Given the description of an element on the screen output the (x, y) to click on. 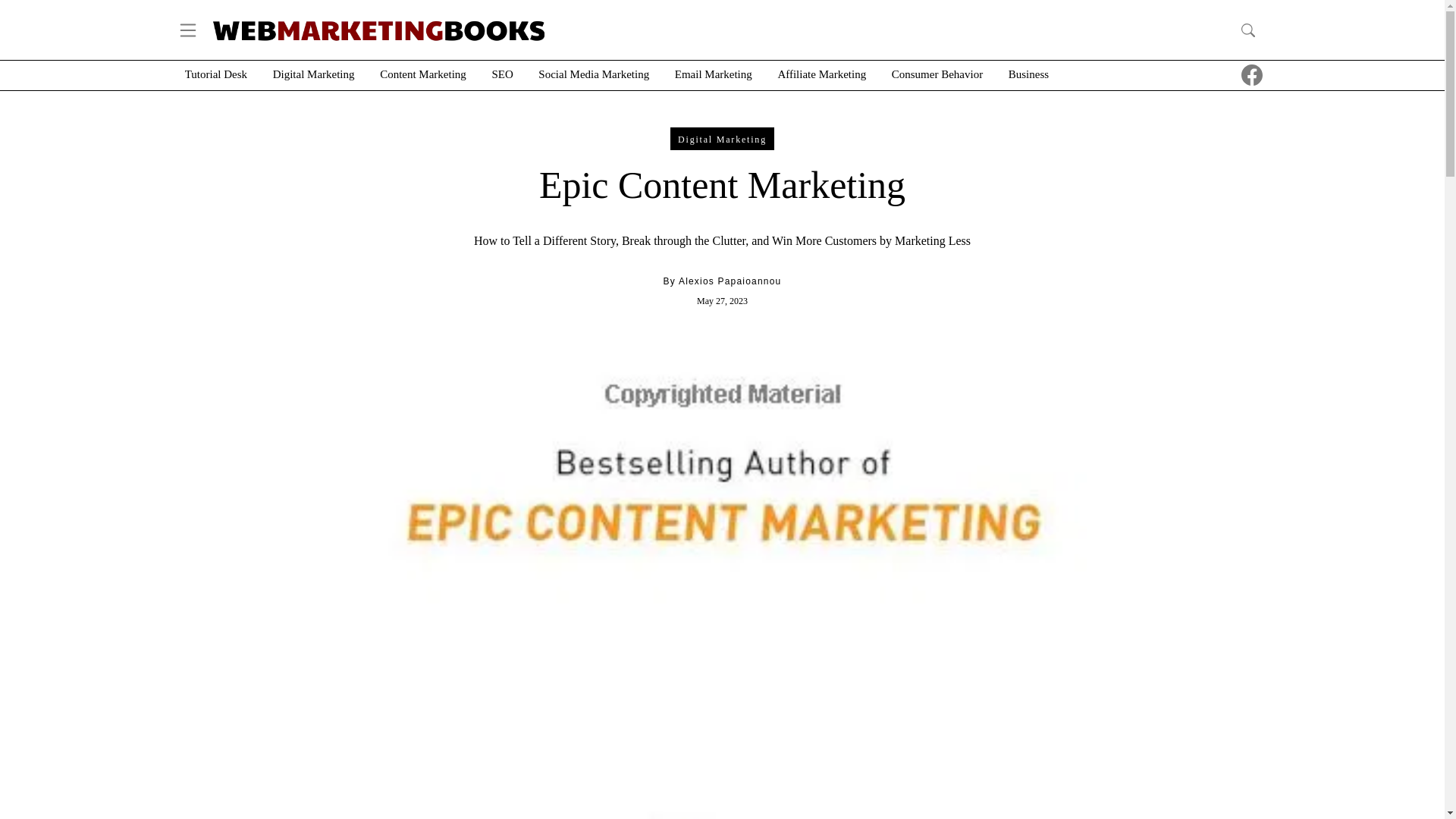
Content Marketing (422, 74)
SEO (502, 74)
Business - Webmarketingbooks.com (1028, 74)
Epic Content Marketing - Webmarketingbooks.com (1223, 74)
Alexios Papaioannou (729, 281)
Tutorial Desk (215, 74)
Affiliate Marketing (821, 74)
Alexios Papaioannou - Webmarketingbooks.com (729, 281)
Digital Marketing (721, 138)
Email Marketing (713, 74)
Social Media Marketing (593, 74)
Business (1028, 74)
Affiliate Marketing - Webmarketingbooks.com (821, 74)
